Given the description of an element on the screen output the (x, y) to click on. 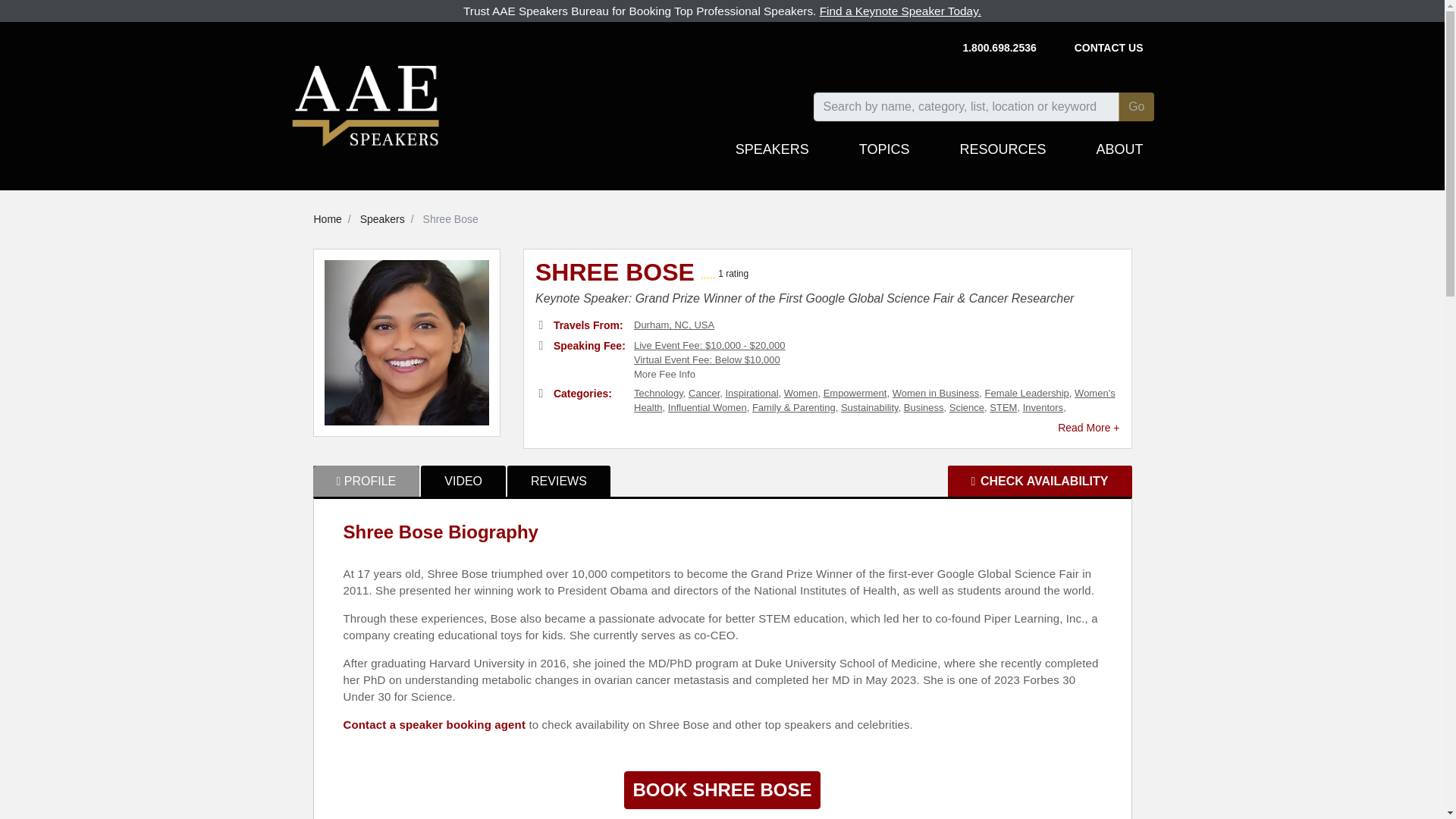
Find a Keynote Speaker Today. (900, 10)
Home (328, 218)
Speakers (381, 218)
1 rating (732, 273)
RESOURCES (1002, 155)
Cancer (703, 392)
Durham, NC, USA (673, 324)
Go (1136, 106)
Technology (657, 392)
TOPICS (884, 155)
Inspirational (751, 392)
SPEAKERS (772, 155)
CONTACT US (1108, 48)
SHREE BOSE (617, 275)
More Fee Info (664, 374)
